Given the description of an element on the screen output the (x, y) to click on. 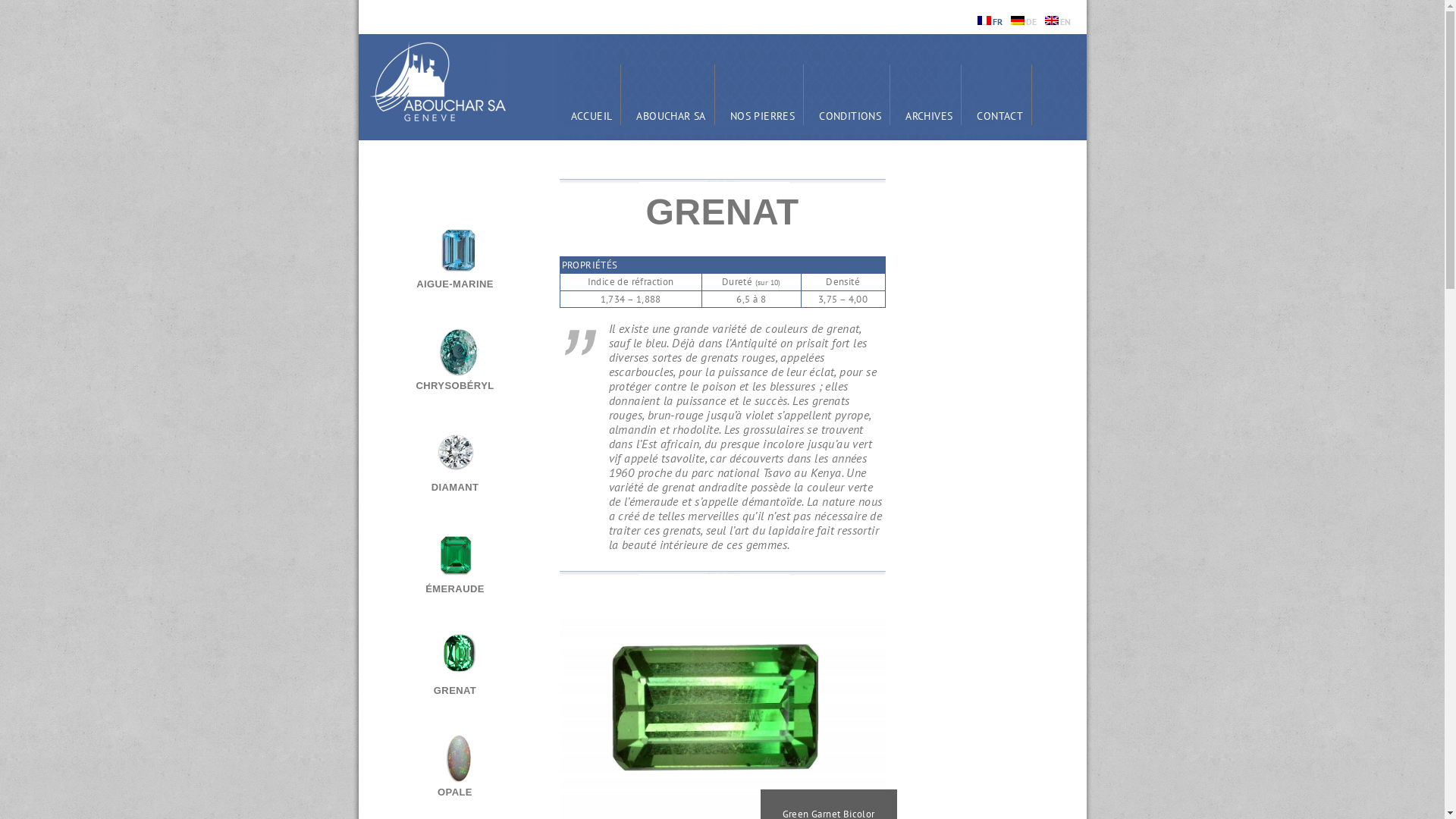
ACCUEIL Element type: text (591, 95)
CONTACT Element type: text (999, 95)
ARCHIVES Element type: text (928, 95)
EN Element type: text (1057, 21)
DE Element type: text (1023, 21)
FR Element type: text (990, 21)
CONDITIONS Element type: text (849, 95)
ABOUCHAR SA Element type: text (670, 95)
NOS PIERRES Element type: text (762, 95)
